Given the description of an element on the screen output the (x, y) to click on. 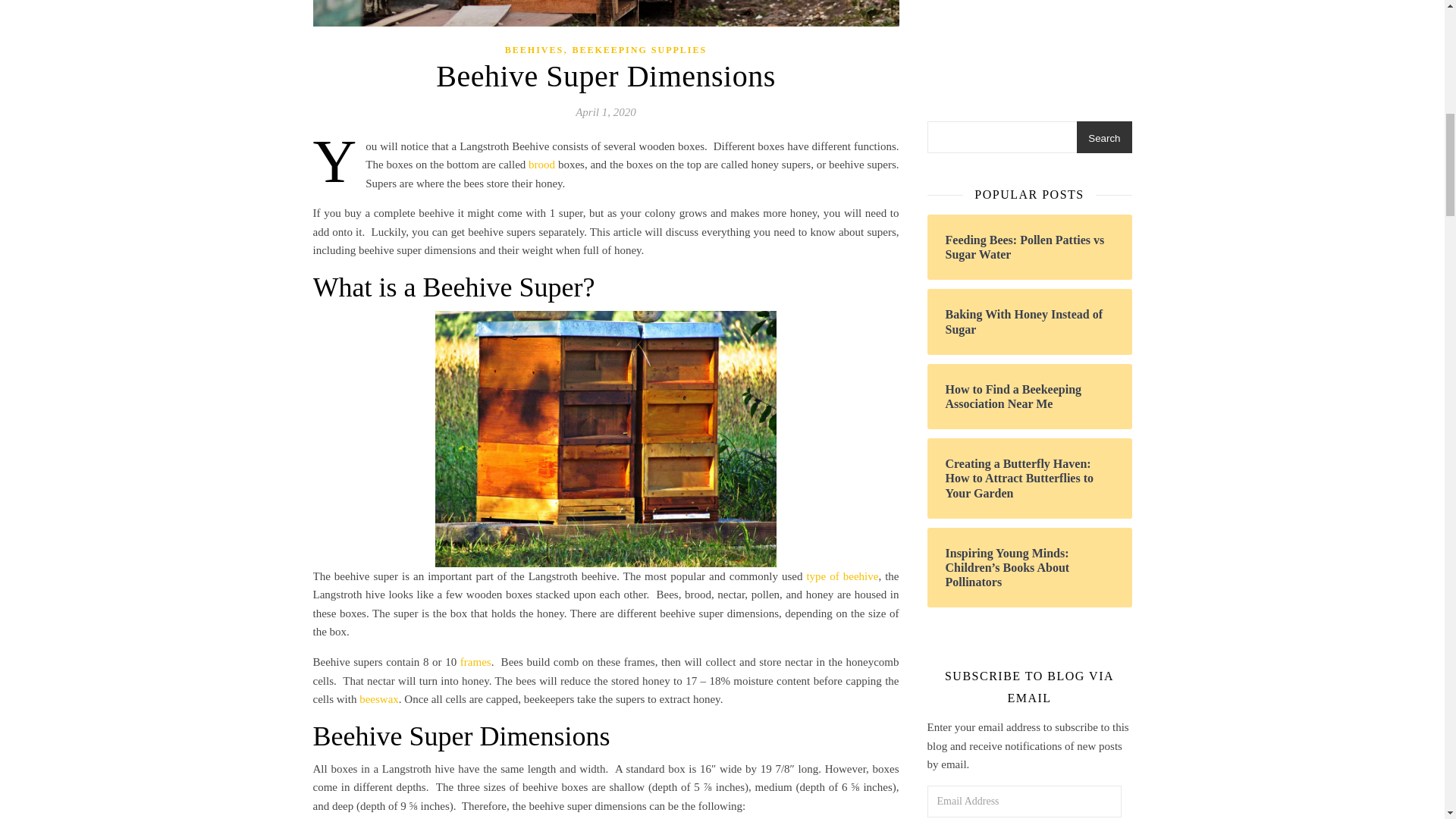
Advertisement (1028, 45)
